Given the description of an element on the screen output the (x, y) to click on. 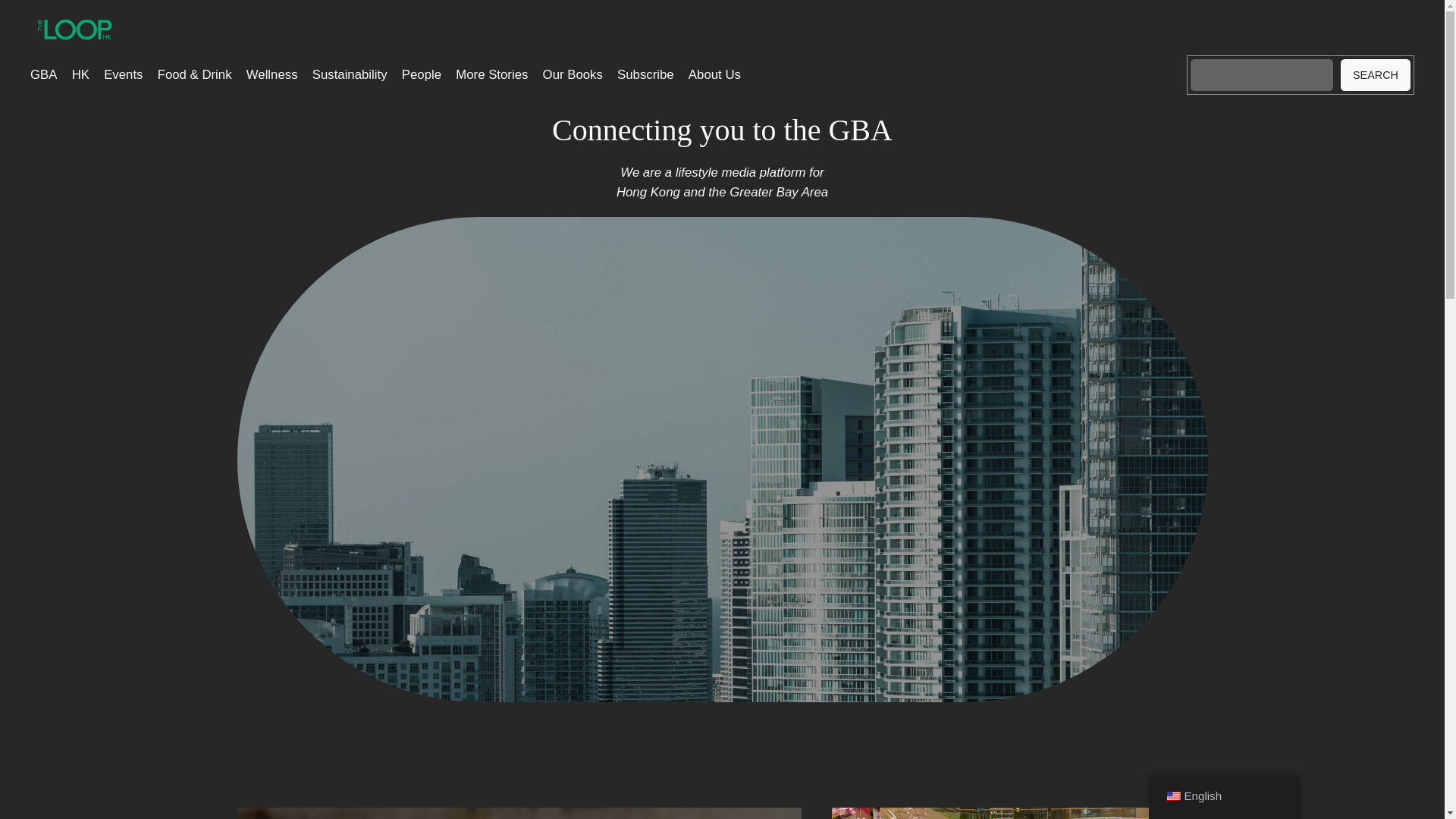
Sustainability (350, 75)
People (421, 75)
GBA (43, 75)
English (1172, 795)
Wellness (272, 75)
SEARCH (1375, 74)
More Stories (491, 75)
Our Books (572, 75)
Events (122, 75)
About Us (714, 75)
